Given the description of an element on the screen output the (x, y) to click on. 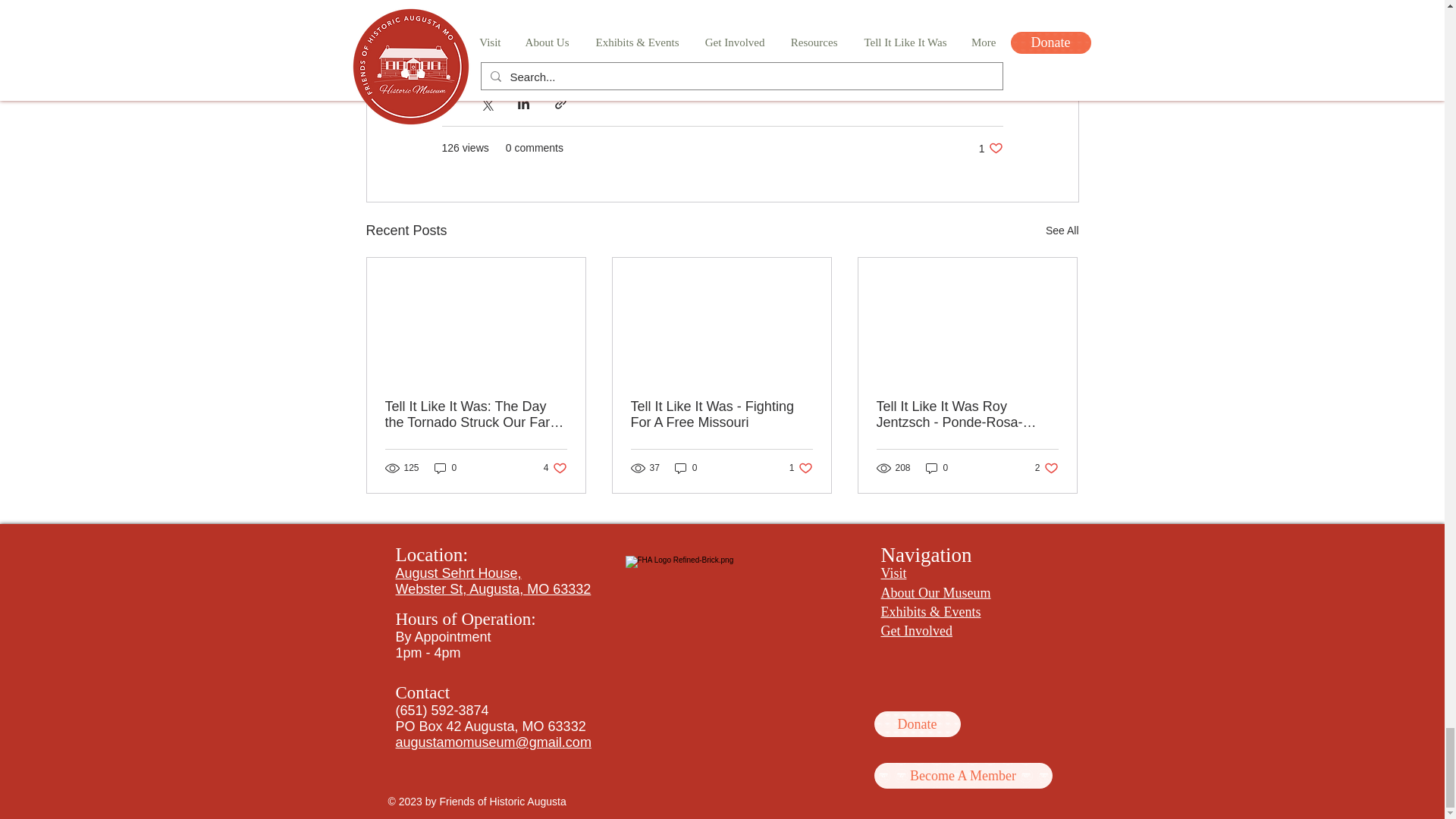
0 (685, 468)
Tell It Like It Was Roy Jentzsch - Ponde-Rosa-Lakes (967, 414)
Tell It Like It Was - Fighting For A Free Missouri (721, 414)
See All (1061, 230)
0 (1046, 468)
0 (493, 581)
